Given the description of an element on the screen output the (x, y) to click on. 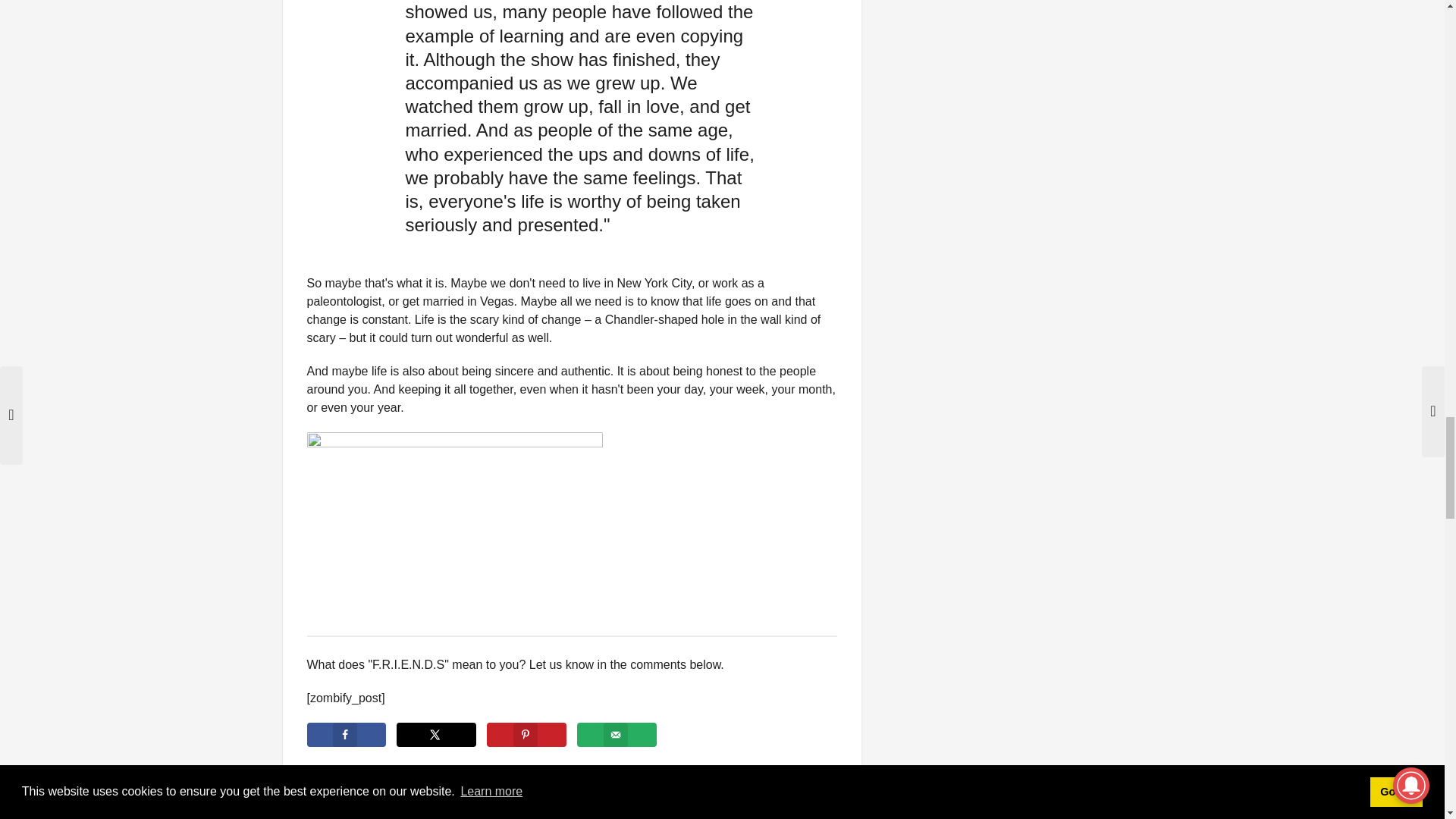
Send over email (616, 734)
Share on Facebook (345, 734)
Share on X (436, 734)
Save to Pinterest (526, 734)
